Given the description of an element on the screen output the (x, y) to click on. 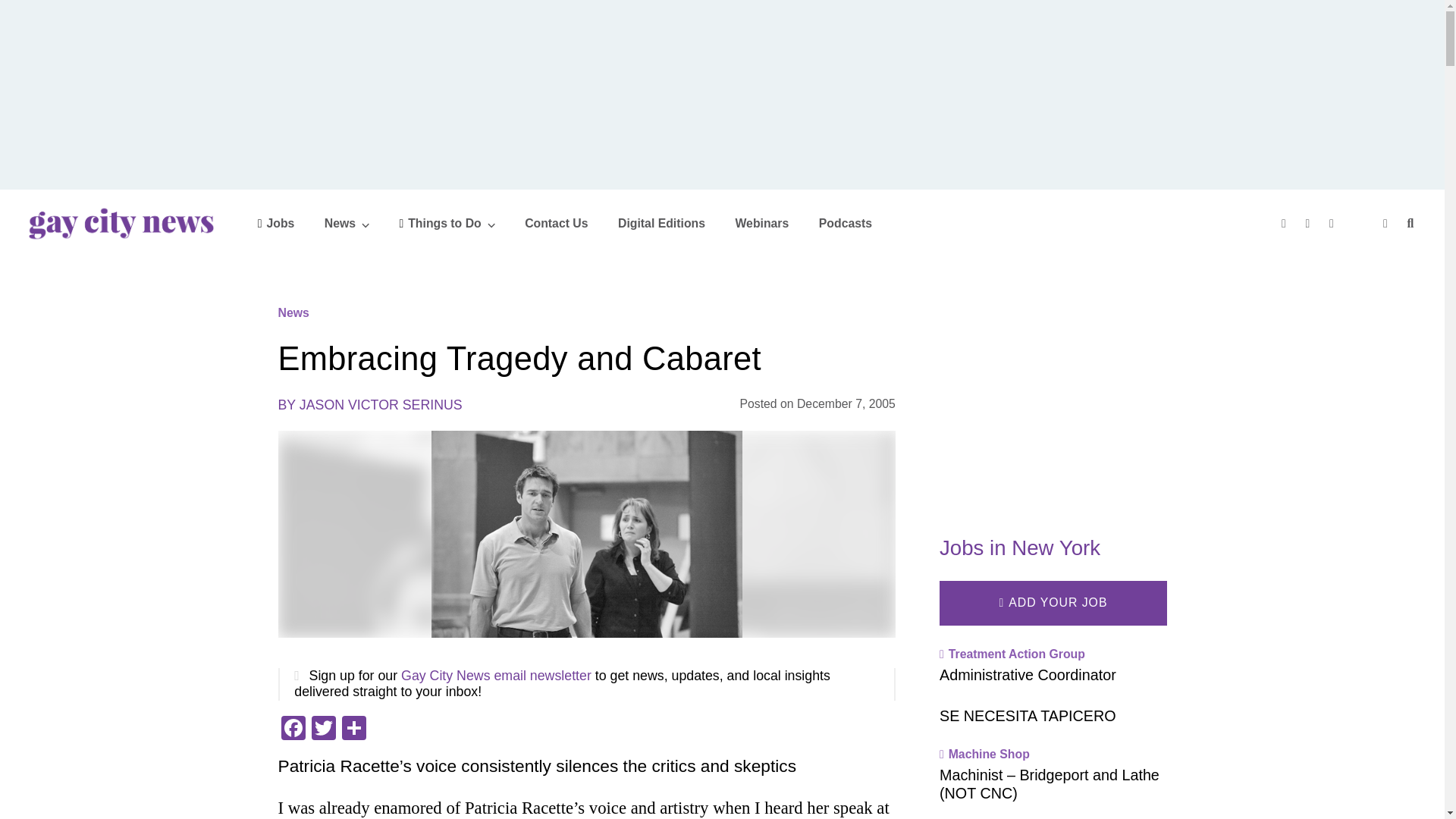
News (346, 223)
Things to Do (446, 223)
Facebook (292, 729)
Twitter (322, 729)
Contact Us (556, 223)
Podcasts (845, 223)
Webinars (762, 223)
Jobs (276, 223)
Digital Editions (660, 223)
